Given the description of an element on the screen output the (x, y) to click on. 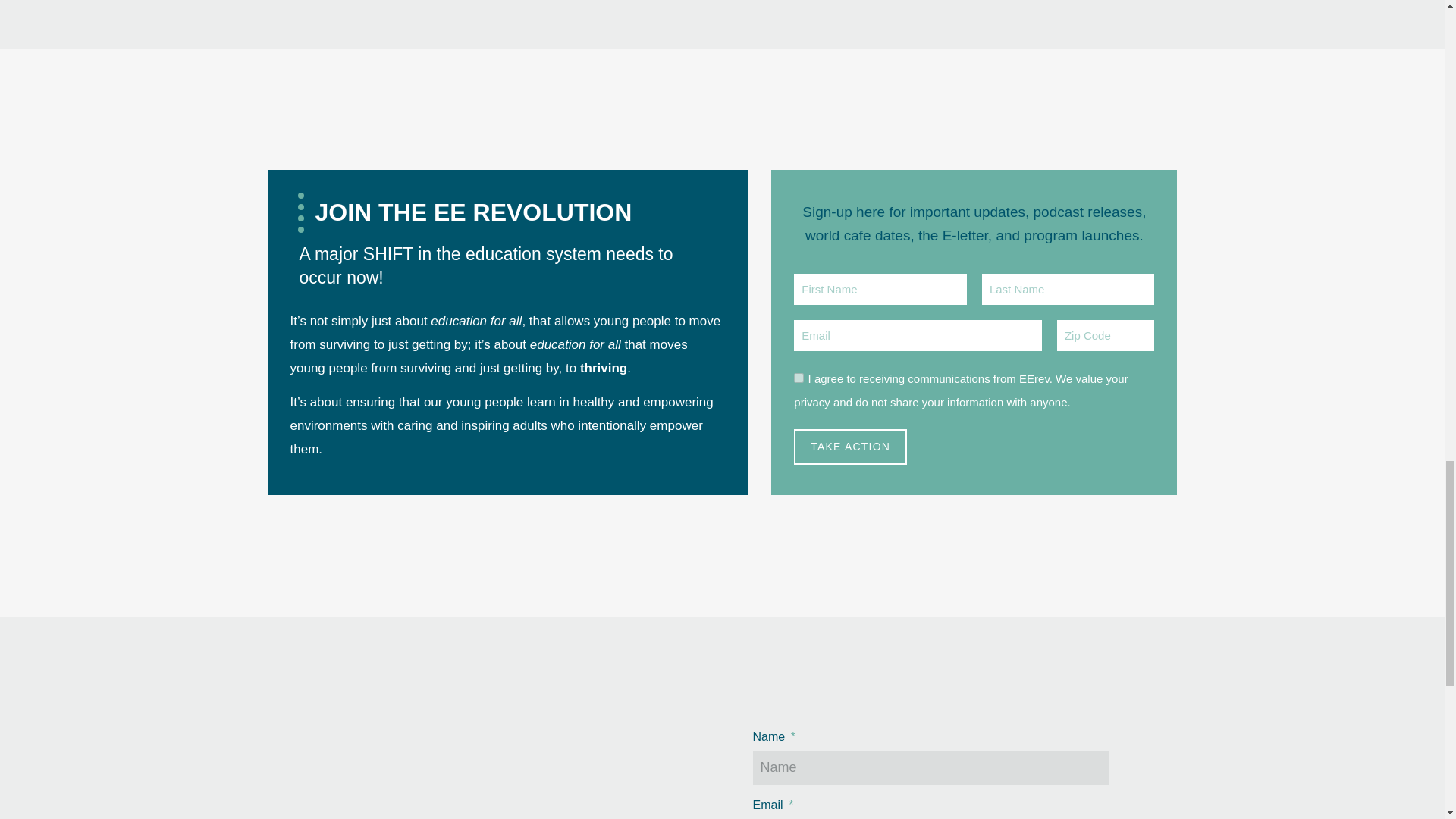
TAKE ACTION (850, 447)
